Given the description of an element on the screen output the (x, y) to click on. 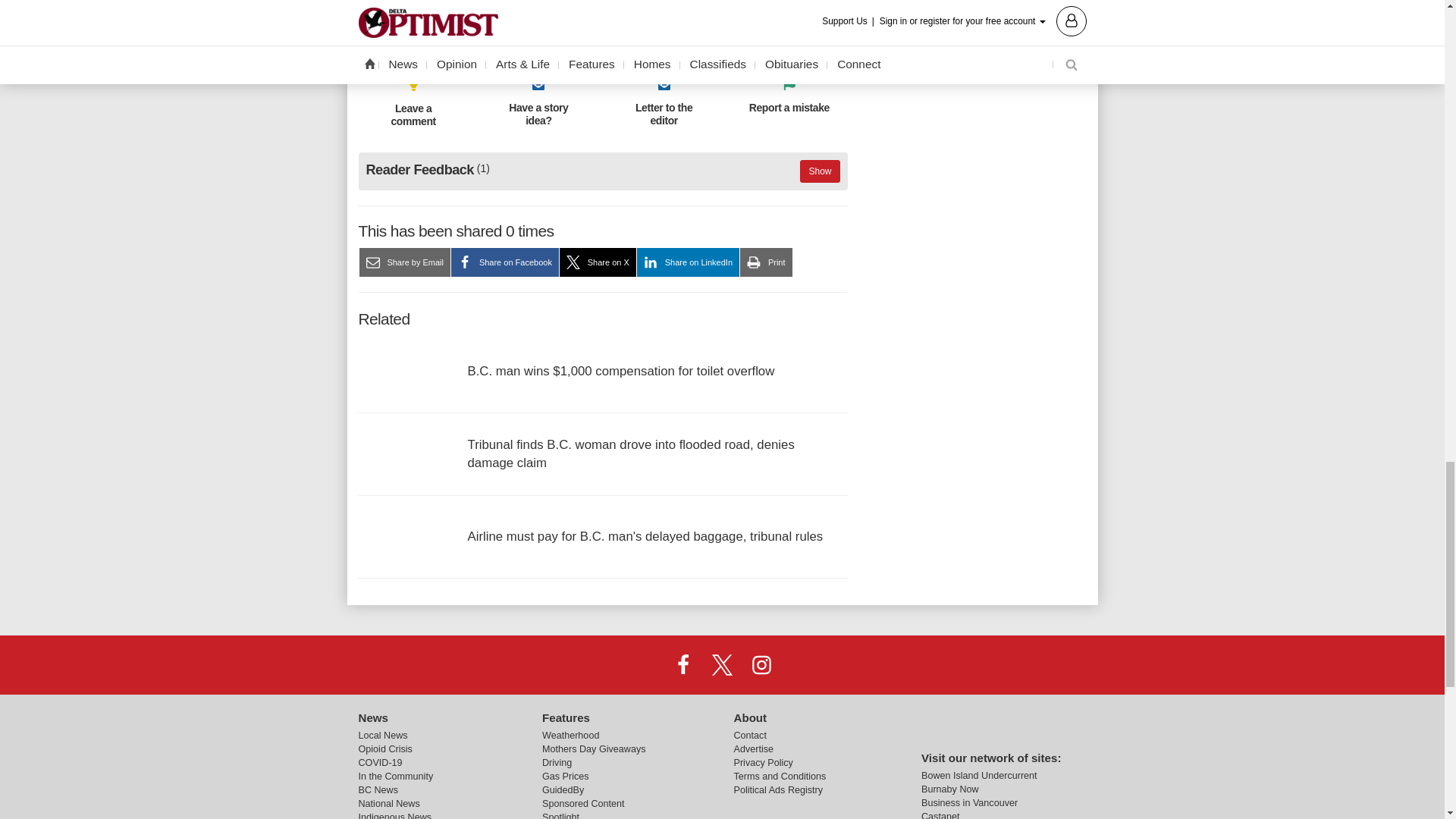
X (721, 664)
Facebook (683, 664)
Instagram (760, 664)
